Given the description of an element on the screen output the (x, y) to click on. 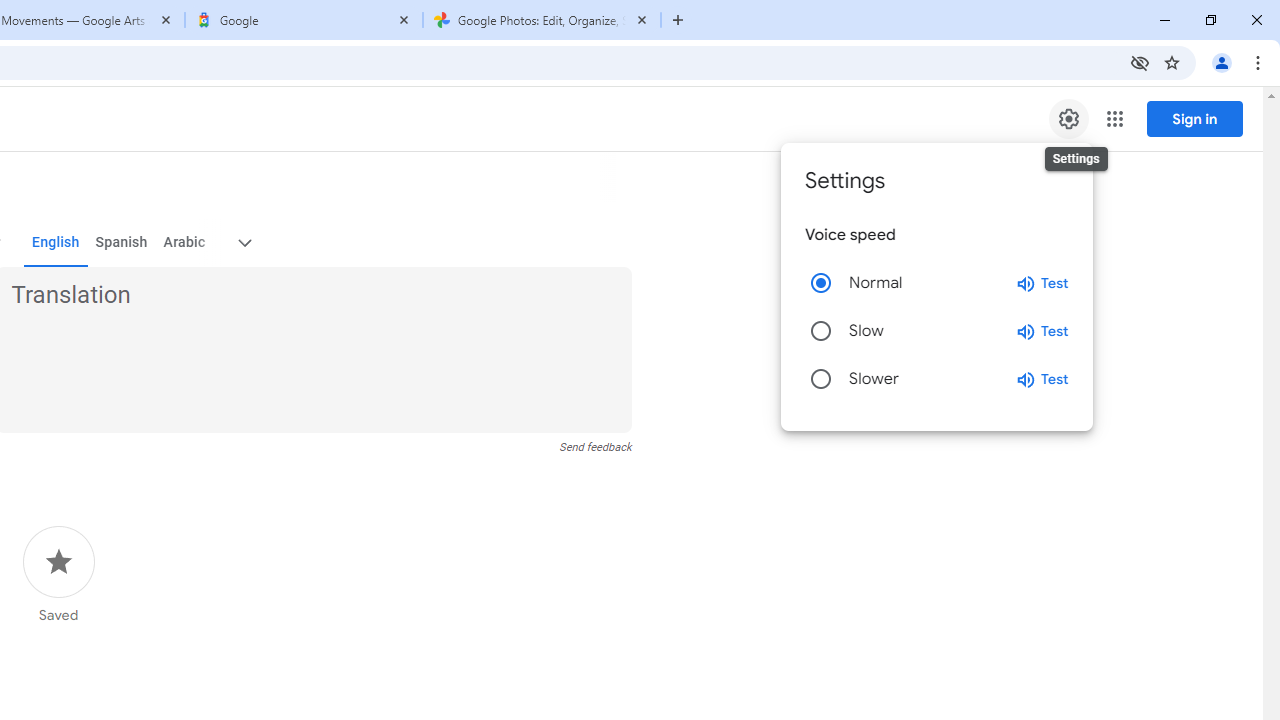
Spanish (121, 242)
Google (304, 20)
Normal (820, 282)
Test slower speed (1041, 378)
English (55, 242)
Slower (820, 378)
